Given the description of an element on the screen output the (x, y) to click on. 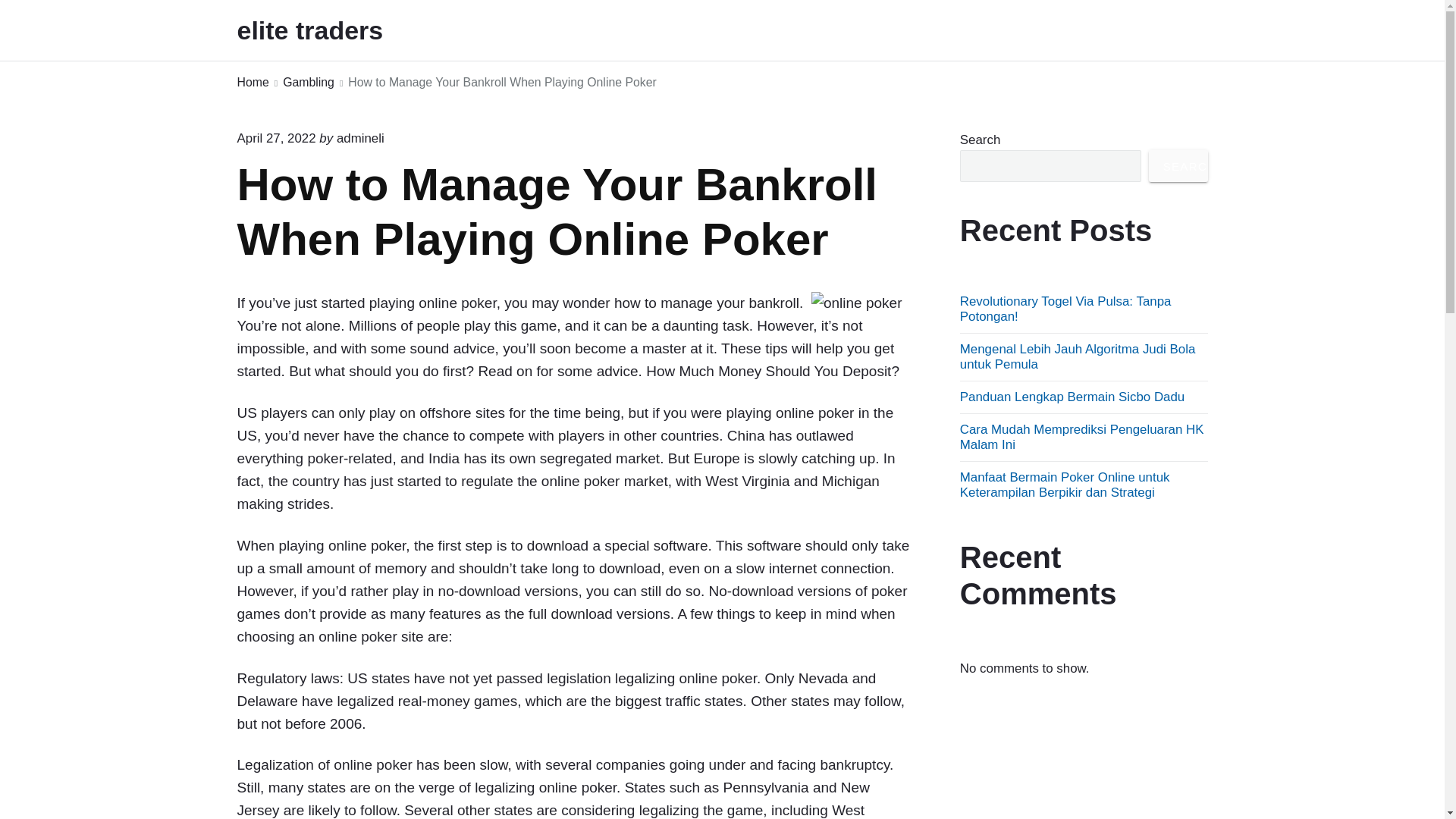
SEARCH (1178, 165)
admineli (360, 138)
Posts by admineli (360, 138)
Gambling (308, 82)
Mengenal Lebih Jauh Algoritma Judi Bola untuk Pemula (1077, 356)
Cara Mudah Memprediksi Pengeluaran HK Malam Ini (1081, 437)
Panduan Lengkap Bermain Sicbo Dadu (1072, 396)
Wednesday, April 27, 2022, 6:33 am (275, 138)
Revolutionary Togel Via Pulsa: Tanpa Potongan! (1065, 308)
elite traders (330, 30)
Home (251, 82)
